Given the description of an element on the screen output the (x, y) to click on. 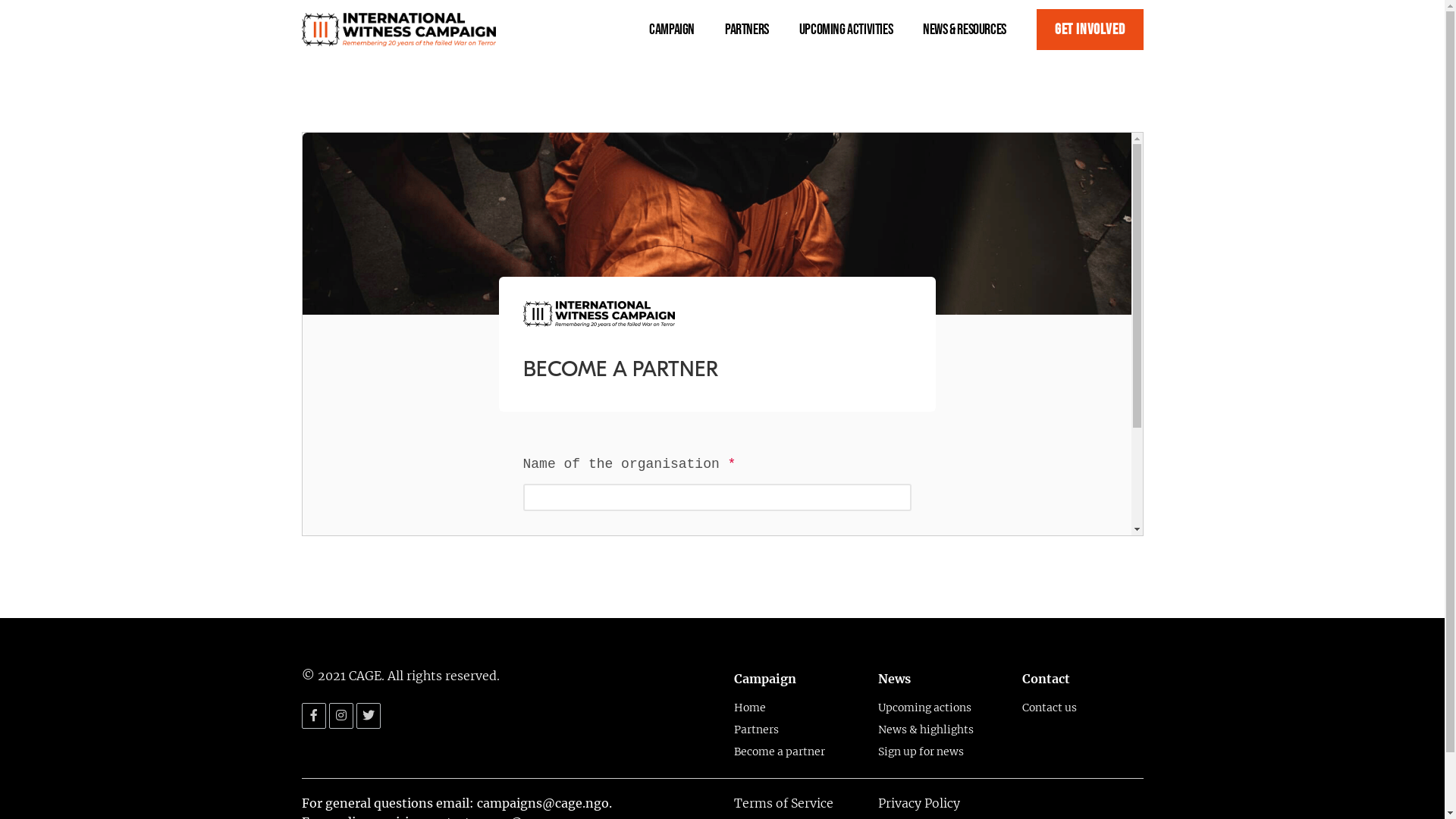
Sign up for news Element type: text (938, 751)
Home Element type: text (794, 707)
Become a partner Element type: text (794, 751)
Upcoming Activities Element type: text (854, 29)
Partners Element type: text (794, 729)
Upcoming actions Element type: text (938, 707)
Privacy Policy Element type: text (919, 802)
News & highlights Element type: text (938, 729)
News & Resources Element type: text (973, 29)
Contact us Element type: text (1082, 707)
Partners Element type: text (755, 29)
Terms of Service Element type: text (783, 802)
GET INVOLVED Element type: text (1089, 29)
Campaign Element type: text (680, 29)
